Given the description of an element on the screen output the (x, y) to click on. 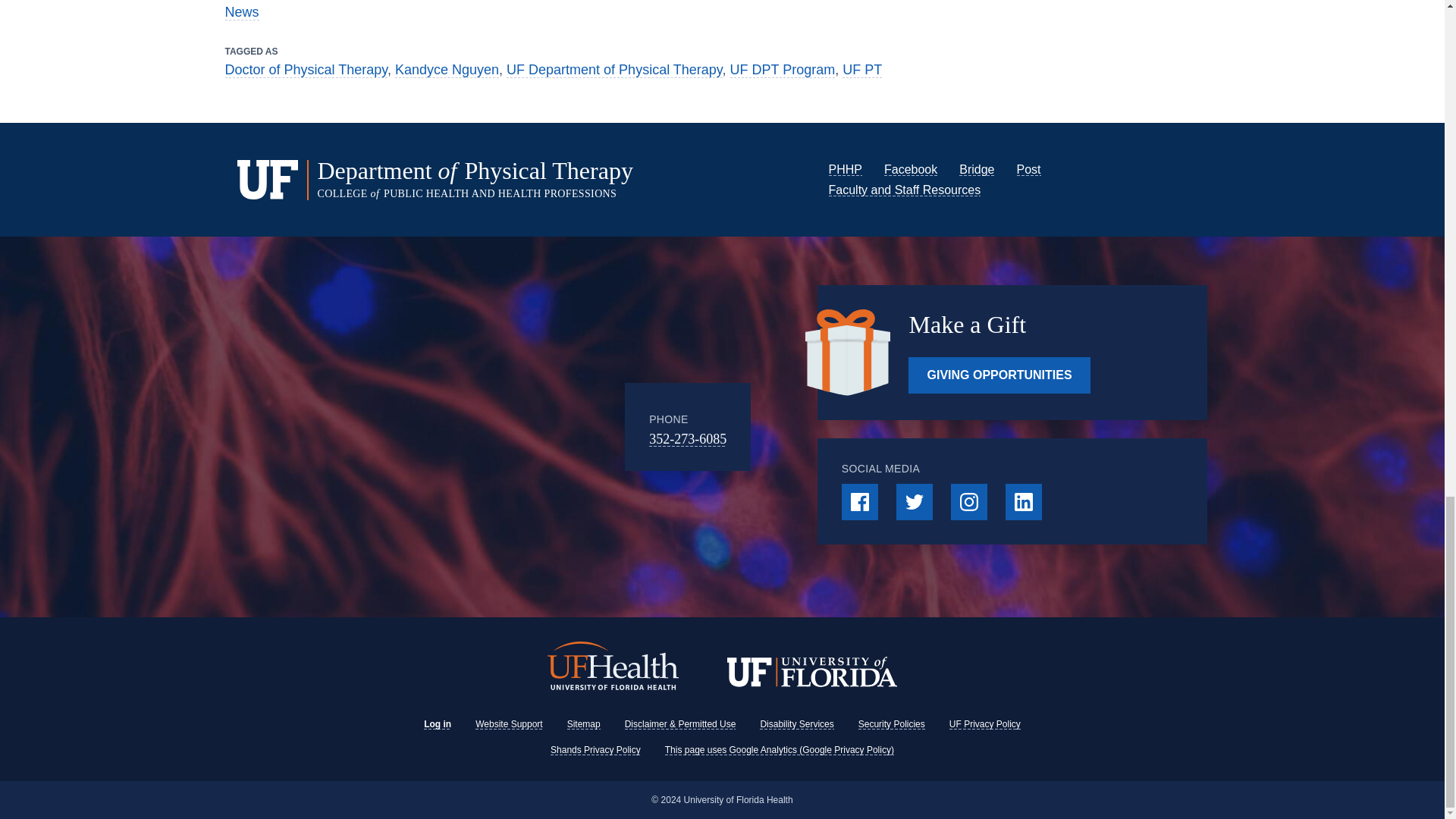
Website Support (509, 724)
Log in (437, 724)
352-273-6085 (687, 438)
UF Privacy Policy (984, 724)
PHHP (844, 169)
Sitemap (583, 724)
Faculty and Staff Resources (903, 189)
Bridge (976, 169)
Google Maps Embed (500, 426)
Disability Services (796, 724)
Post (1028, 169)
Security Policies (891, 724)
Facebook (910, 169)
Shands Privacy Policy (595, 749)
